Given the description of an element on the screen output the (x, y) to click on. 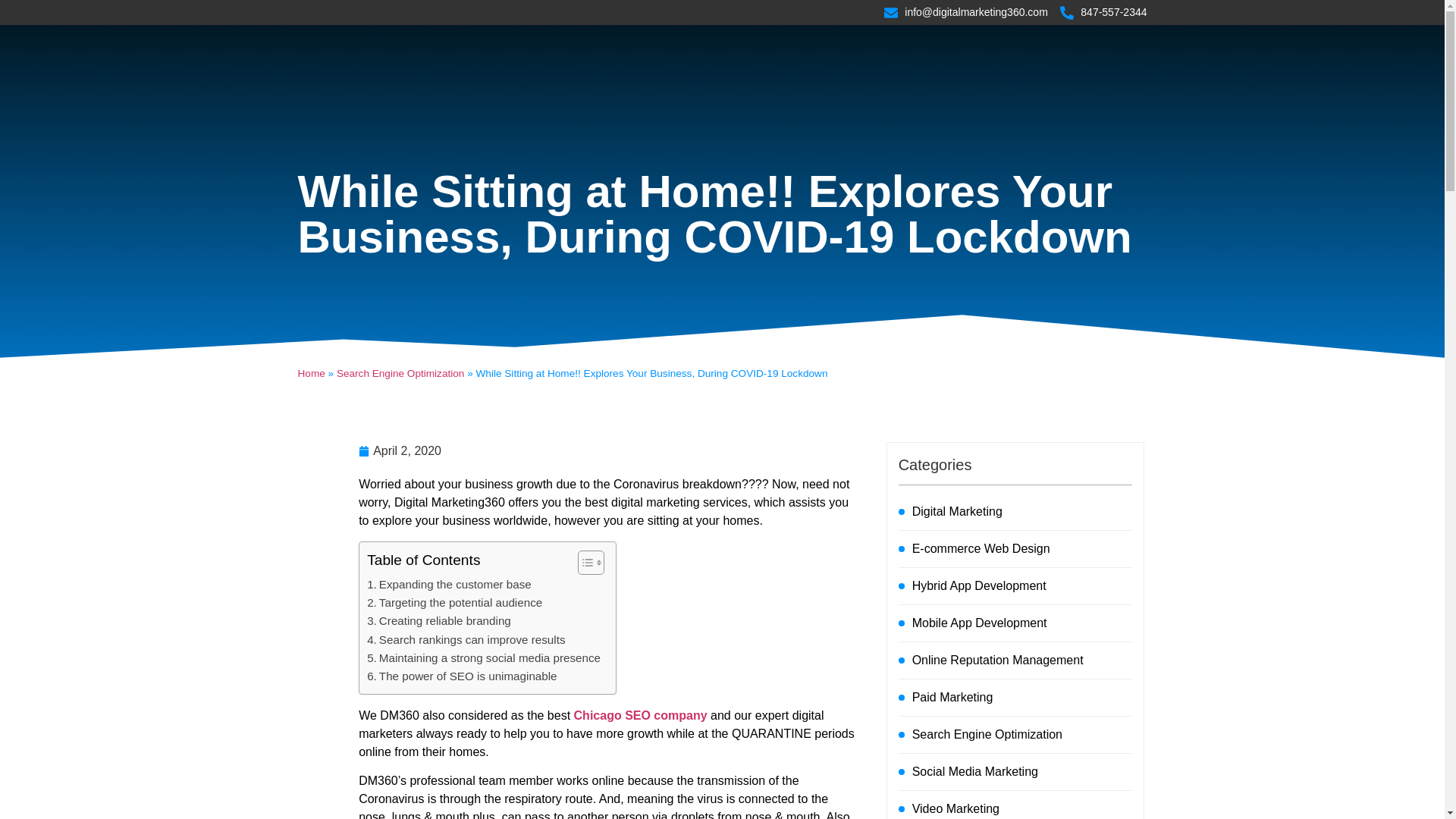
Search rankings can improve results (465, 639)
April 2, 2020 (399, 451)
 Expanding the customer base (448, 584)
 Maintaining a strong social media presence (482, 658)
 The power of SEO is unimaginable (461, 676)
 Creating reliable branding (438, 620)
Maintaining a strong social media presence (482, 658)
847-557-2344 (1103, 12)
Creating reliable branding (438, 620)
Search Engine Optimization (400, 373)
